Given the description of an element on the screen output the (x, y) to click on. 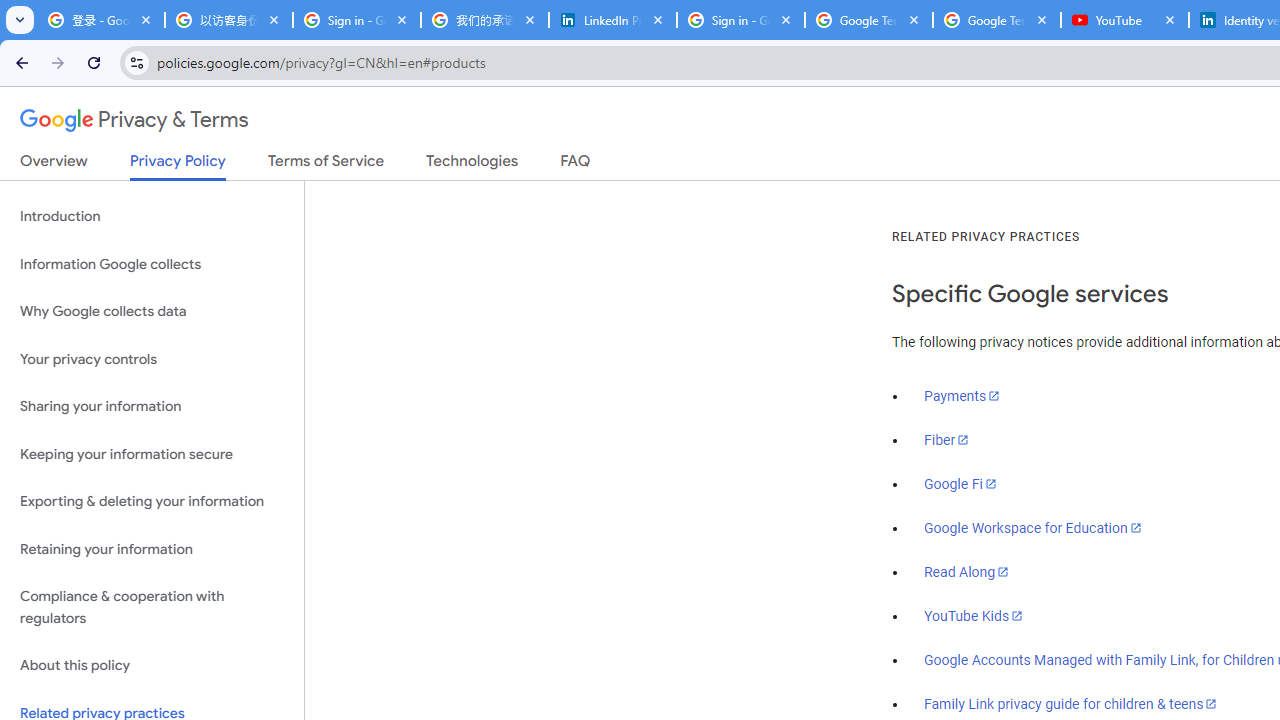
Sharing your information (152, 407)
Sign in - Google Accounts (741, 20)
Google Fi (960, 484)
Keeping your information secure (152, 453)
FAQ (575, 165)
Payments (962, 395)
